Given the description of an element on the screen output the (x, y) to click on. 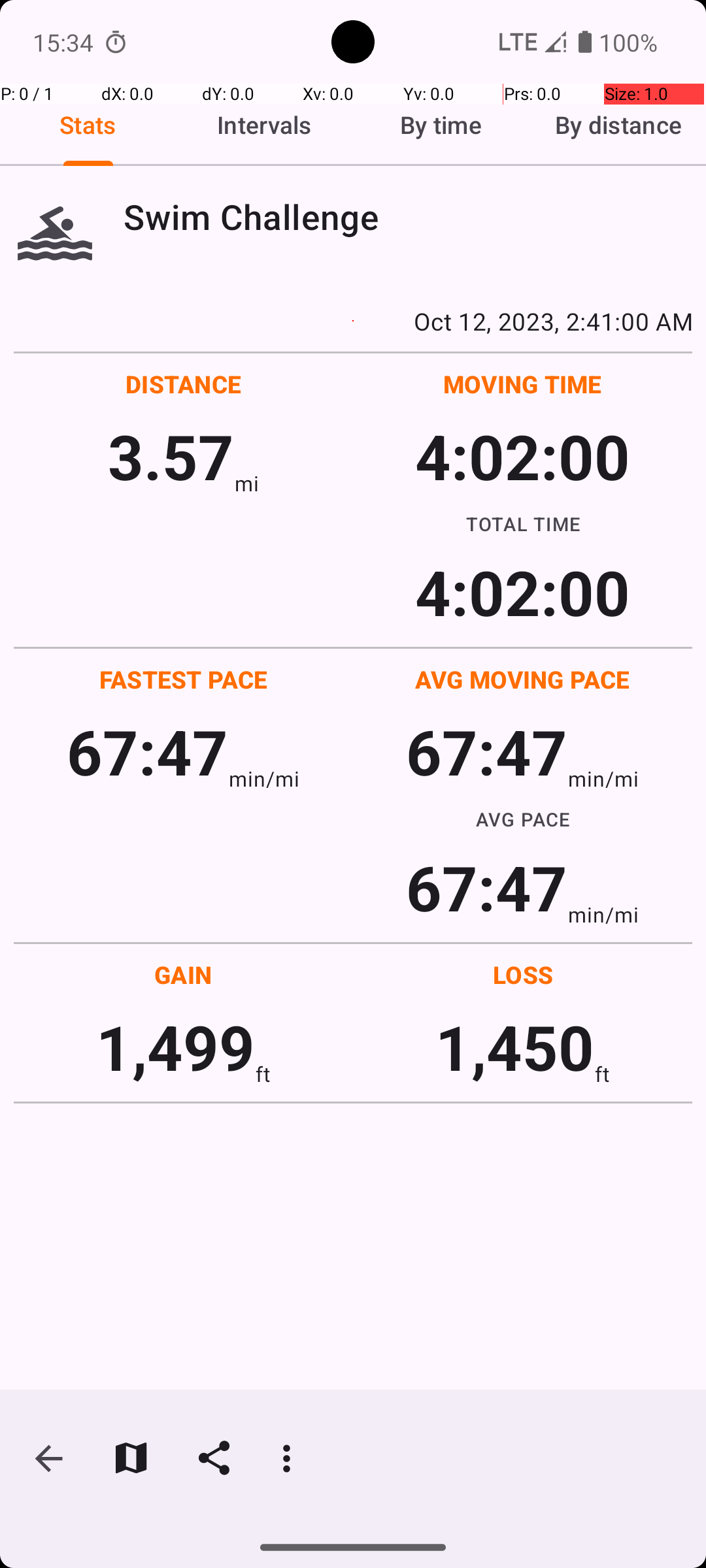
Swim Challenge Element type: android.widget.TextView (407, 216)
Oct 12, 2023, 2:41:00 AM Element type: android.widget.TextView (352, 320)
3.57 Element type: android.widget.TextView (170, 455)
4:02:00 Element type: android.widget.TextView (522, 455)
67:47 Element type: android.widget.TextView (147, 750)
1,499 Element type: android.widget.TextView (175, 1045)
1,450 Element type: android.widget.TextView (514, 1045)
